Given the description of an element on the screen output the (x, y) to click on. 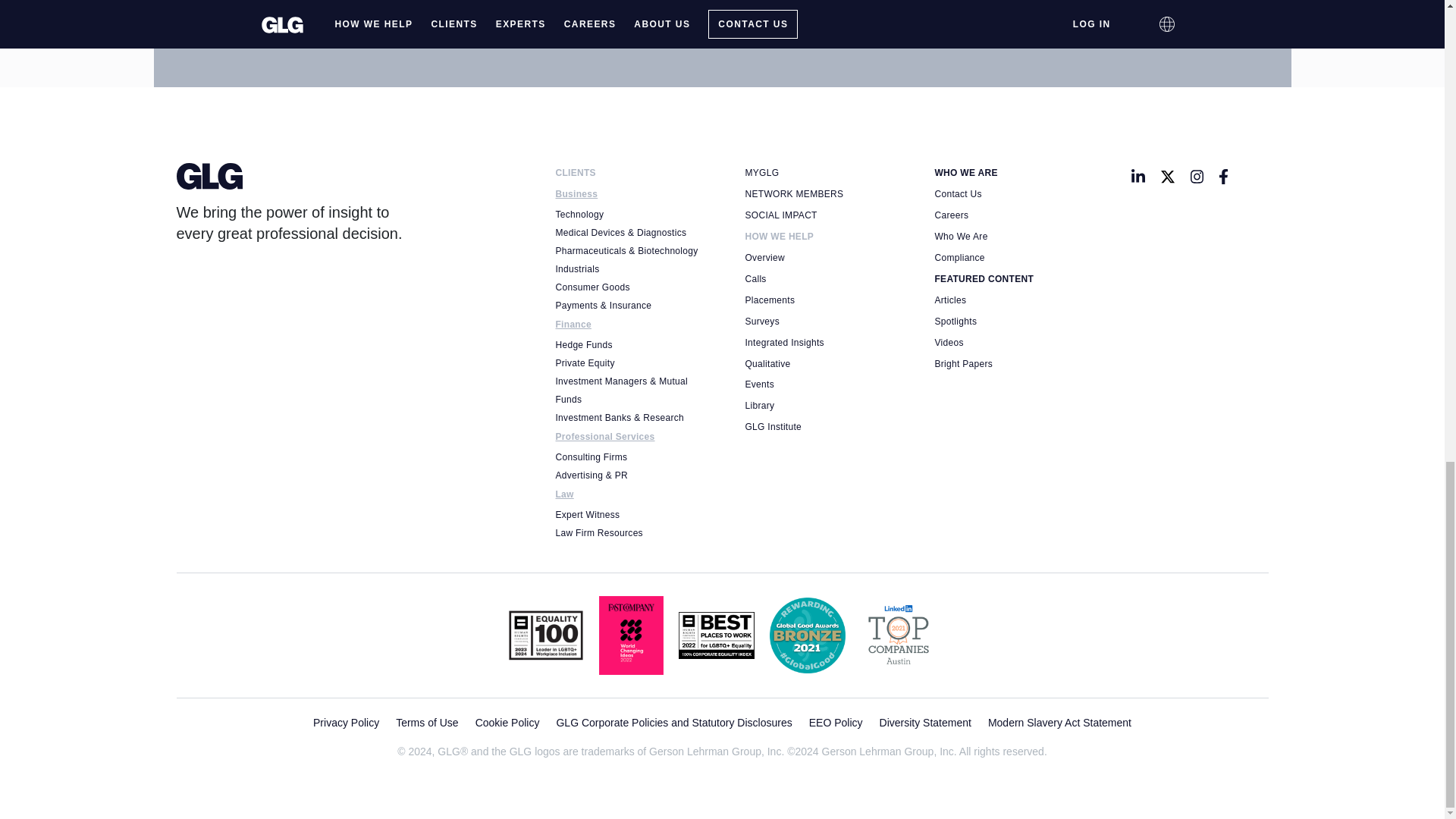
Twitter (1167, 176)
LinkedIn (1137, 176)
Instagram (1197, 176)
